Given the description of an element on the screen output the (x, y) to click on. 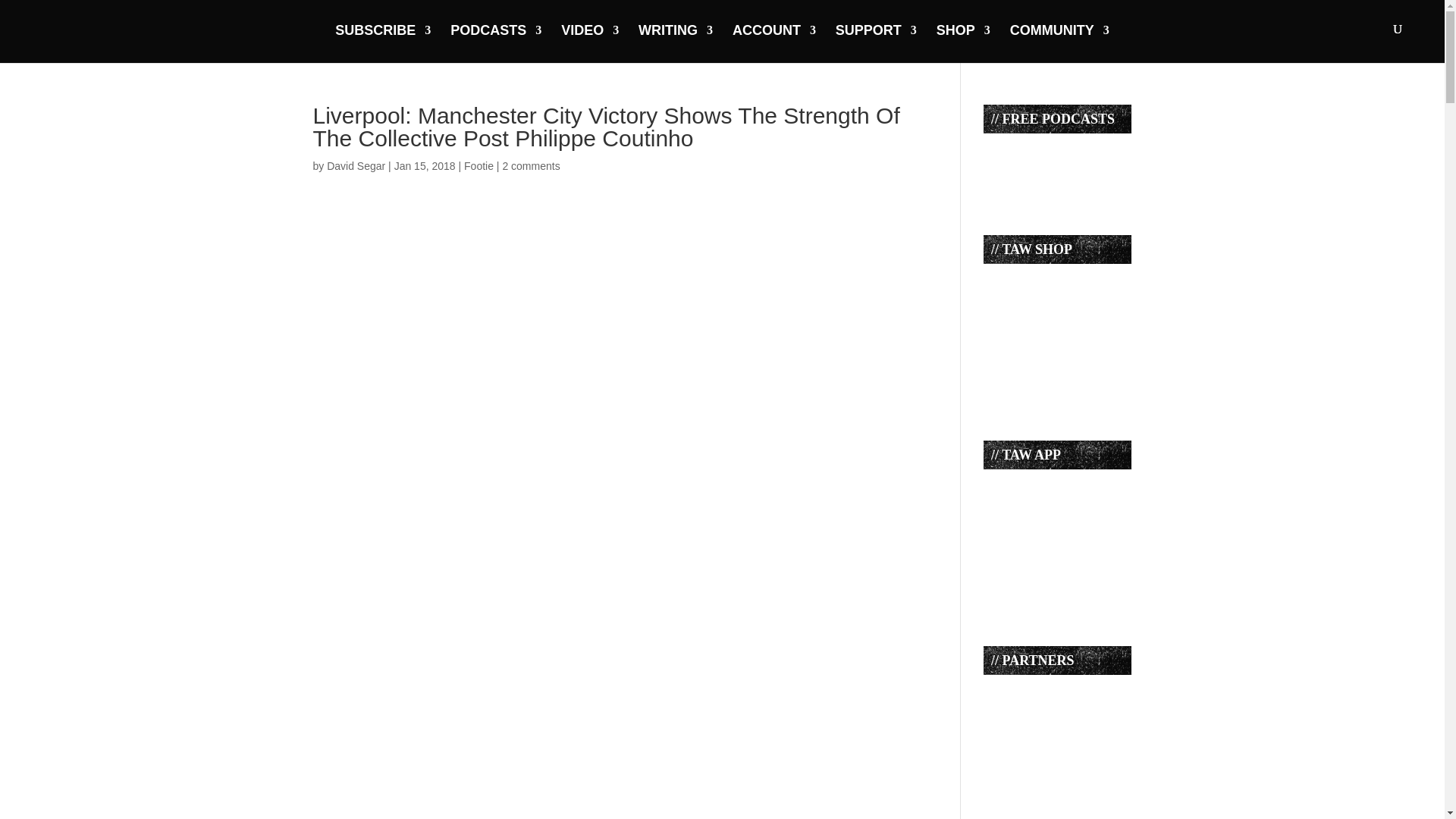
COMMUNITY (1059, 42)
PODCASTS (495, 42)
SUBSCRIBE (382, 42)
Posts by David Segar (355, 165)
ACCOUNT (773, 42)
WRITING (676, 42)
VIDEO (589, 42)
SUPPORT (876, 42)
SHOP (963, 42)
